Given the description of an element on the screen output the (x, y) to click on. 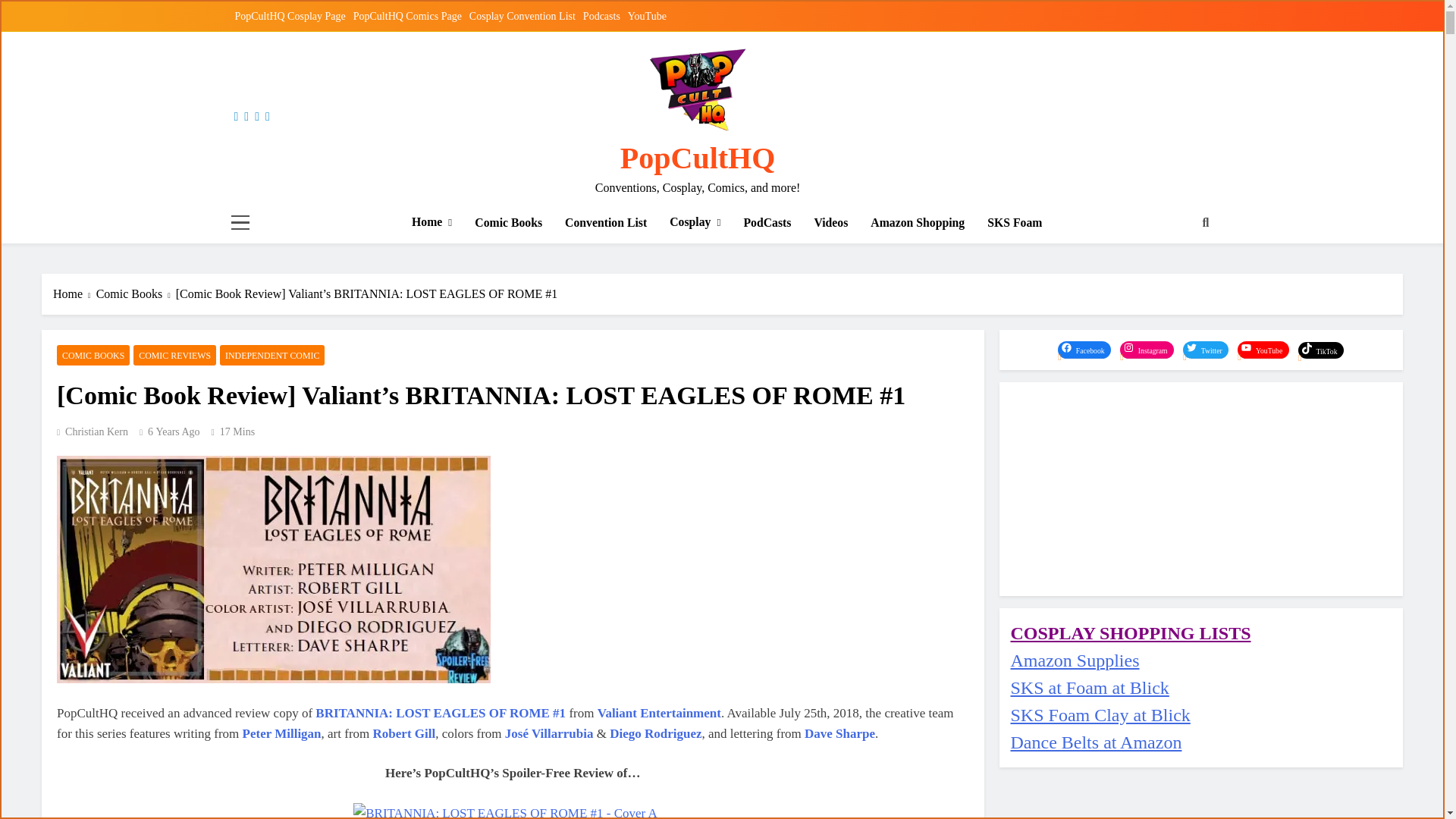
COMIC REVIEWS (174, 354)
SKS Foam (1013, 221)
Cosplay Convention List (521, 16)
PodCasts (767, 221)
YouTube (646, 16)
Home (431, 222)
Comic Books (136, 294)
Cosplay (695, 222)
COMIC BOOKS (92, 354)
